Given the description of an element on the screen output the (x, y) to click on. 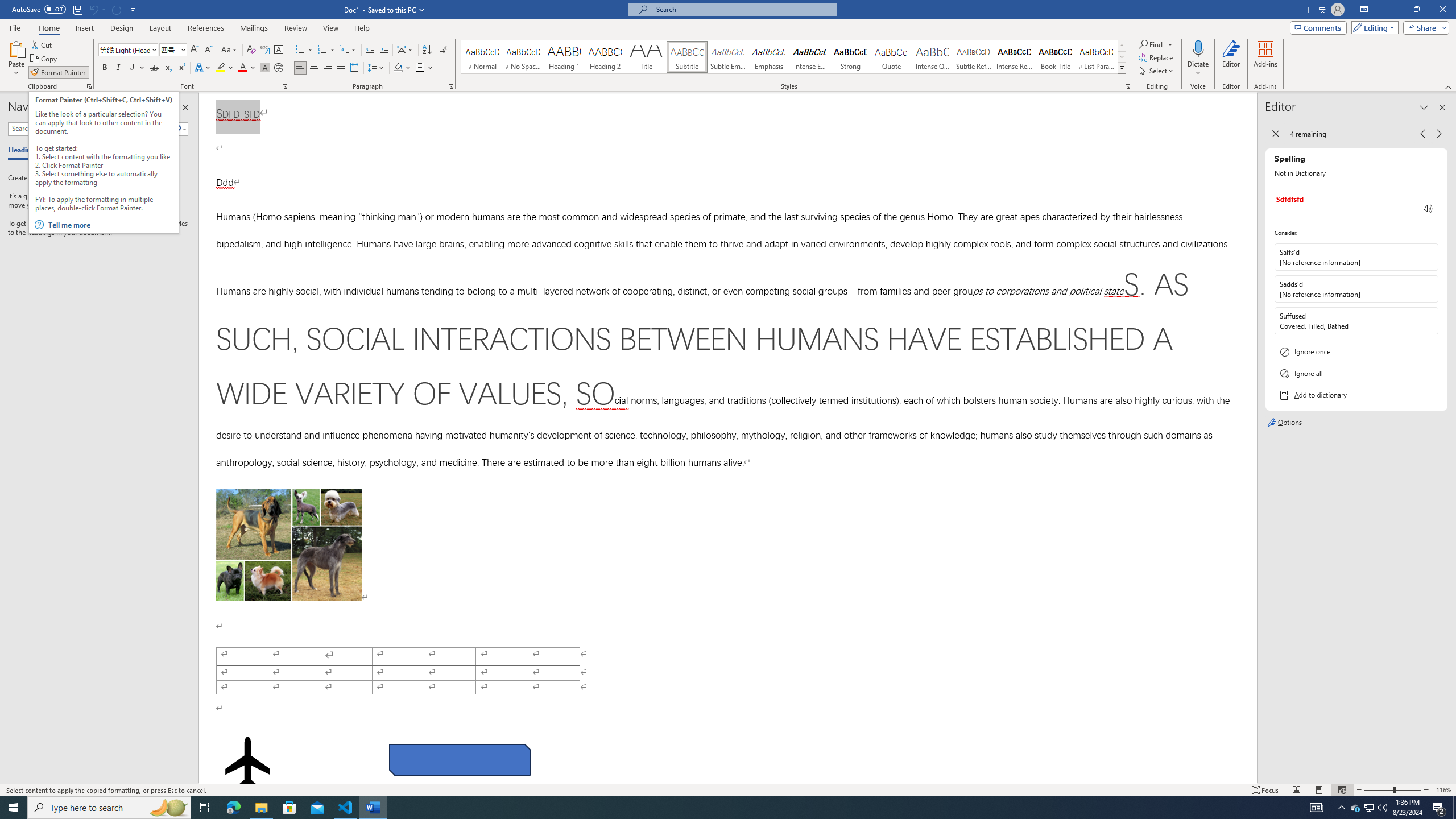
Shading RGB(0, 0, 0) (397, 67)
AutoSave (38, 9)
Comments (1318, 27)
Intense Quote (932, 56)
Headings (25, 150)
Home (48, 28)
Editor (1231, 58)
Align Right (327, 67)
Numbering (326, 49)
Phonetic Guide... (264, 49)
Asian Layout (405, 49)
Styles (1121, 67)
